Given the description of an element on the screen output the (x, y) to click on. 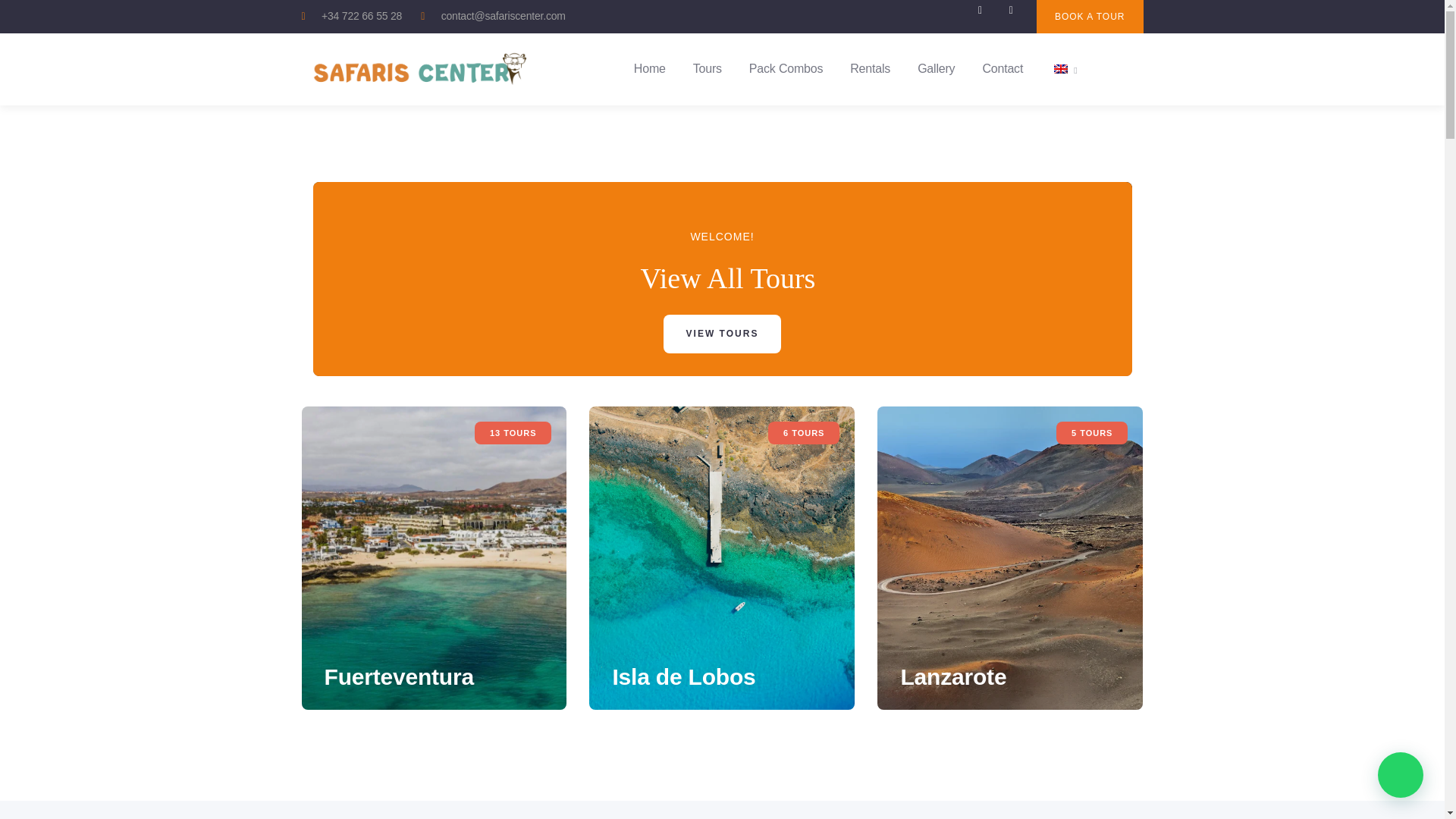
VIEW TOURS (722, 332)
Home (420, 67)
English (1060, 68)
BOOK A TOUR (1089, 16)
Pack Combos (785, 68)
